Given the description of an element on the screen output the (x, y) to click on. 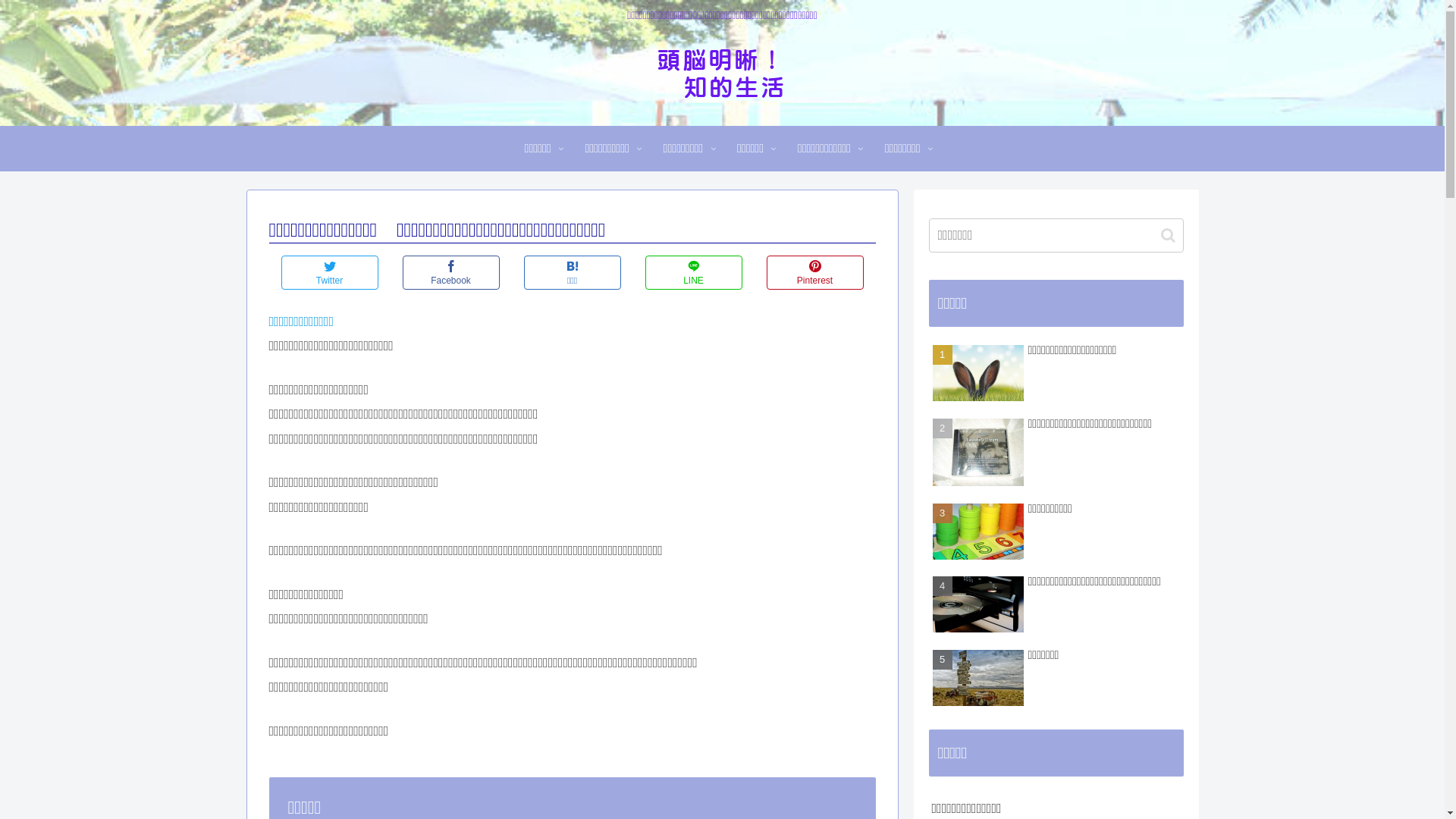
LINE Element type: text (692, 272)
Facebook Element type: text (449, 272)
Pinterest Element type: text (813, 272)
Twitter Element type: text (328, 272)
